Given the description of an element on the screen output the (x, y) to click on. 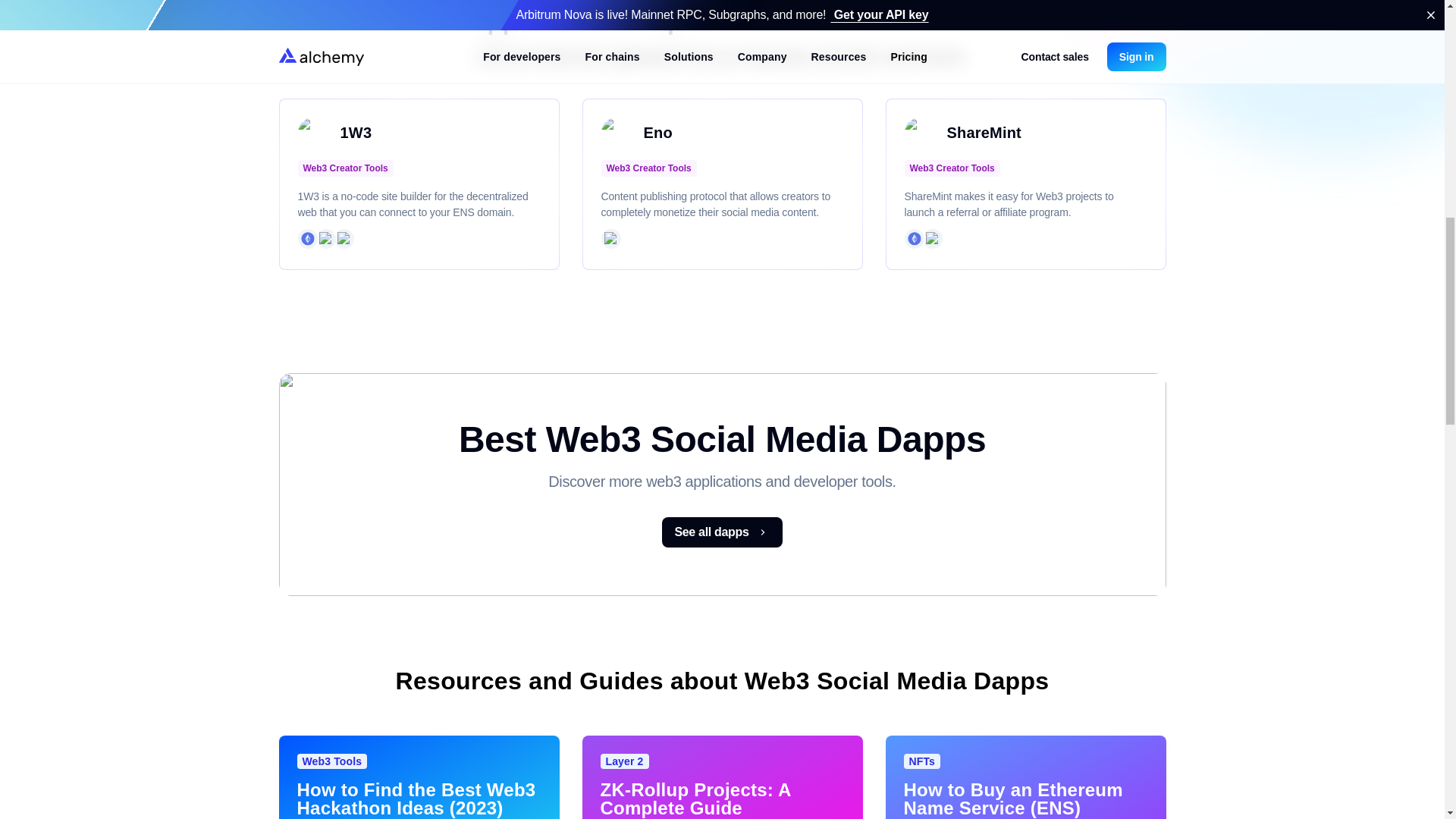
Solana (610, 238)
Solana (931, 238)
Polygon (324, 238)
Ethereum (913, 238)
Ethereum (306, 238)
Solana (343, 238)
